Given the description of an element on the screen output the (x, y) to click on. 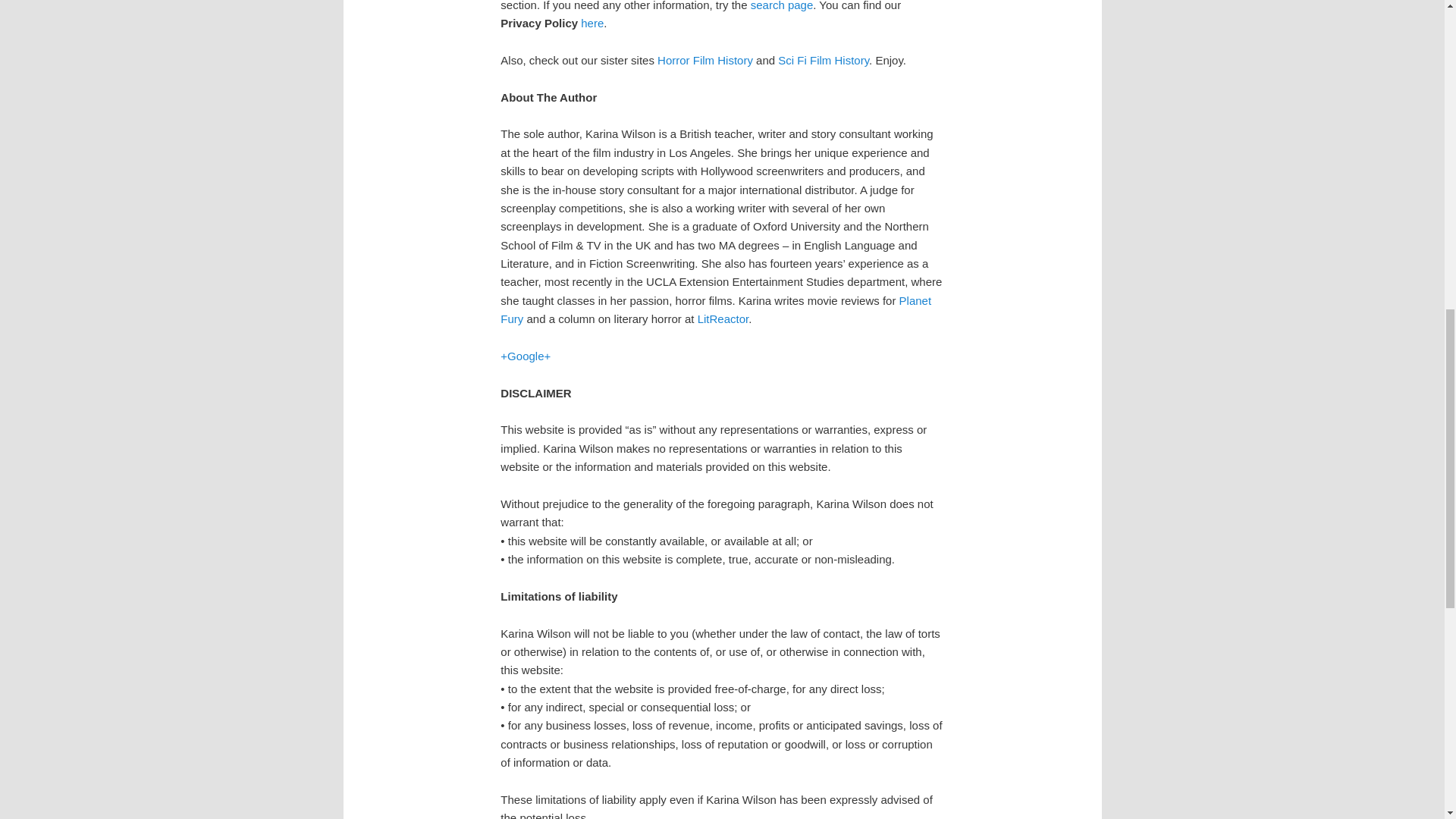
LitReactor (723, 318)
here (592, 22)
search page (782, 5)
Sci Fi Film History (823, 60)
Planet Fury (715, 309)
Horror Film History (705, 60)
